Given the description of an element on the screen output the (x, y) to click on. 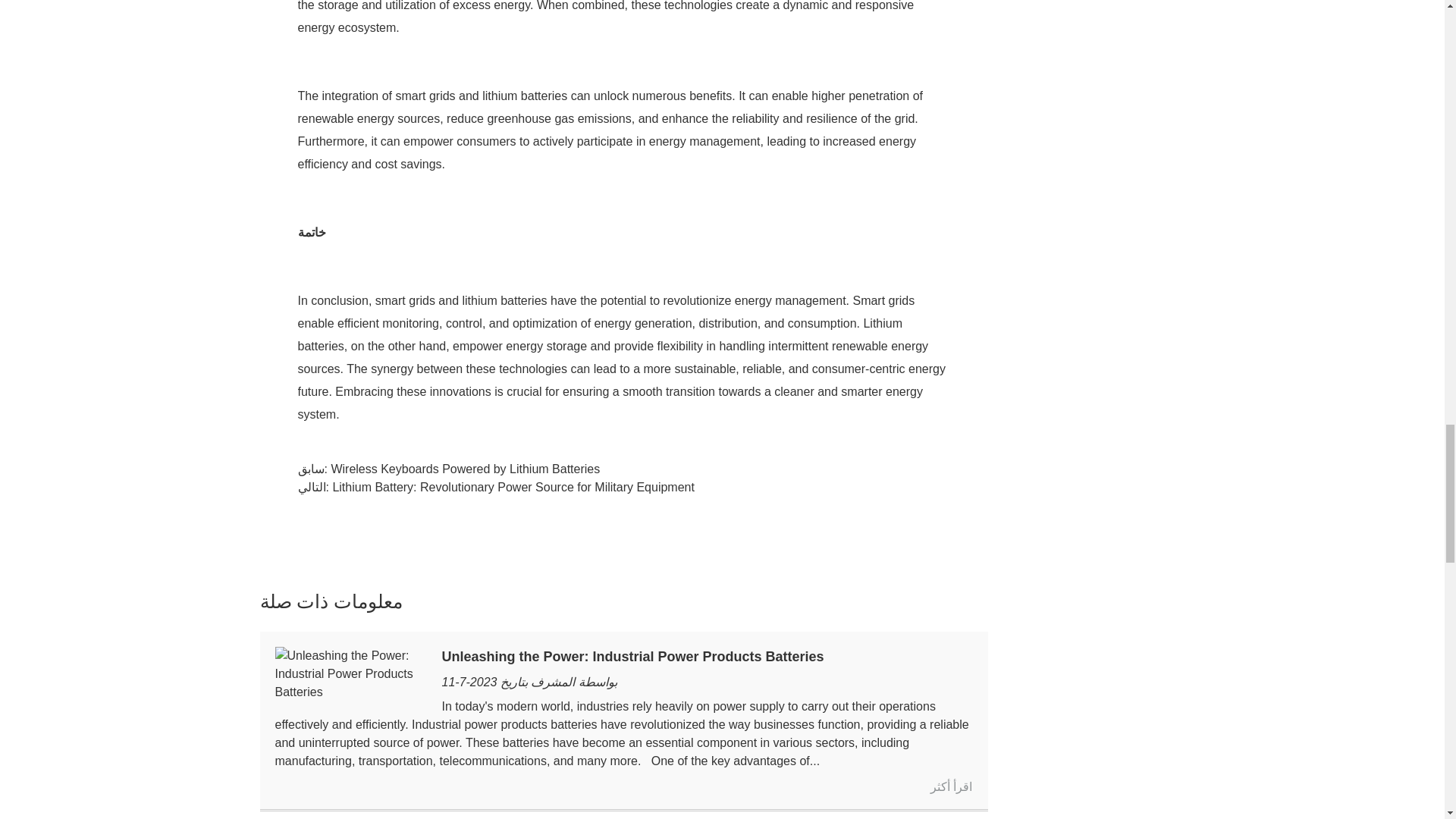
Unleashing the Power: Industrial Power Products Batteries (632, 656)
Unleashing the Power: Industrial Power Products Batteries (951, 787)
Unleashing the Power: Industrial Power Products Batteries (350, 673)
